Given the description of an element on the screen output the (x, y) to click on. 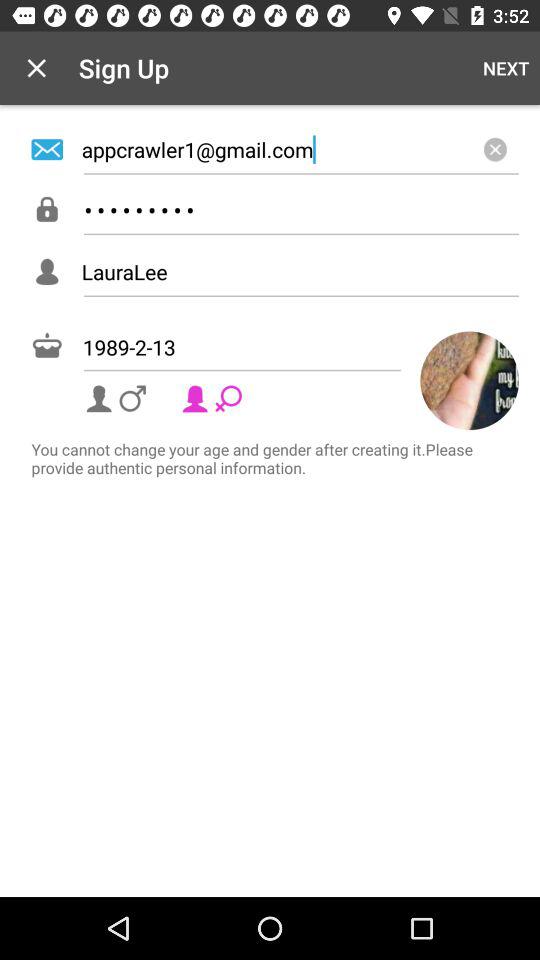
flip until crowd3116 (300, 209)
